Given the description of an element on the screen output the (x, y) to click on. 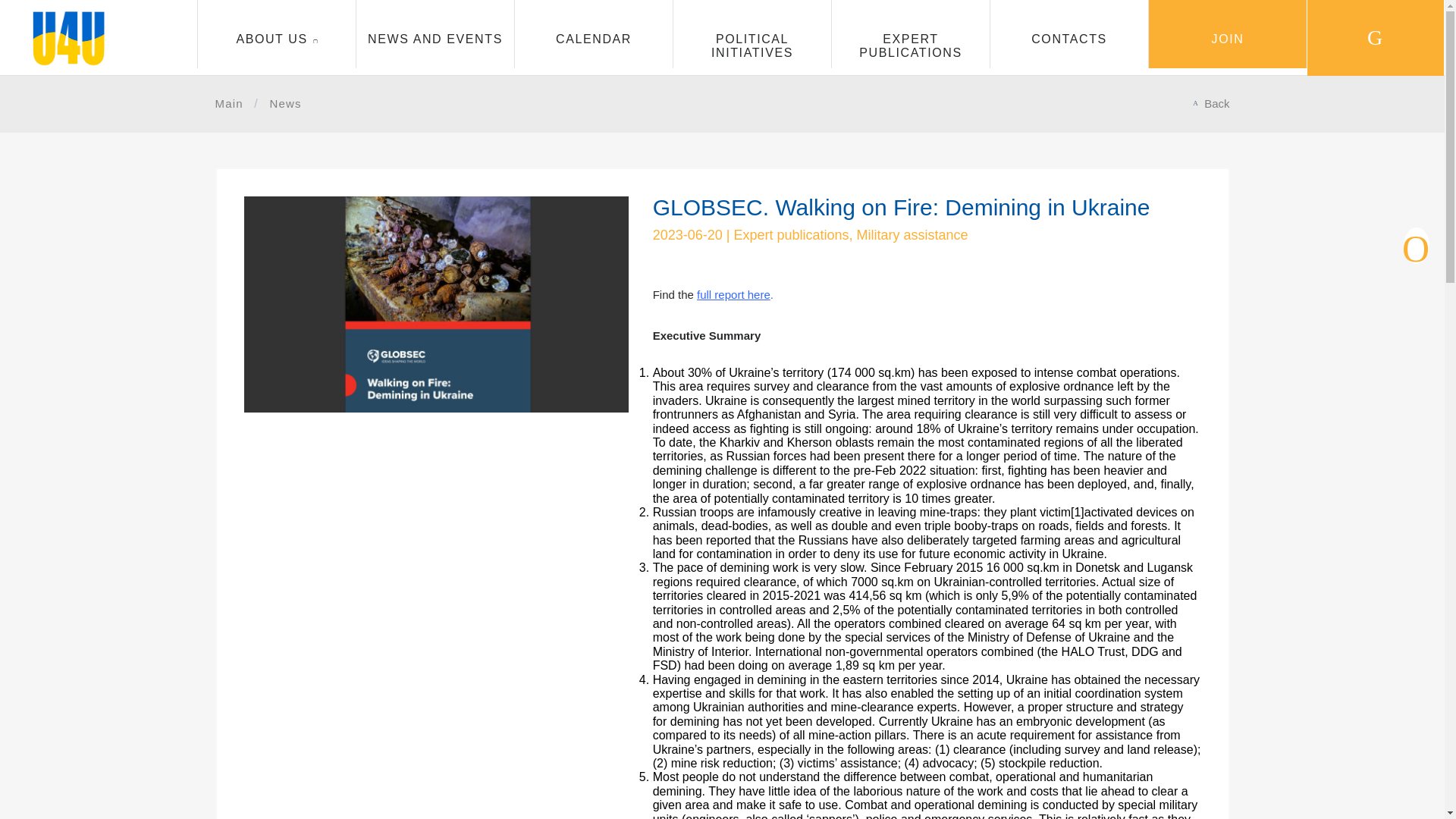
CONTACTS (1069, 33)
EXPERT PUBLICATIONS (910, 33)
ABOUT US (276, 33)
CALENDAR (593, 33)
Main (229, 104)
full report here (733, 294)
NEWS AND EVENTS (434, 33)
Main (229, 104)
News (285, 104)
Back (1216, 104)
News (285, 104)
U4U (68, 62)
JOIN (1227, 33)
POLITICAL INITIATIVES (751, 33)
